Given the description of an element on the screen output the (x, y) to click on. 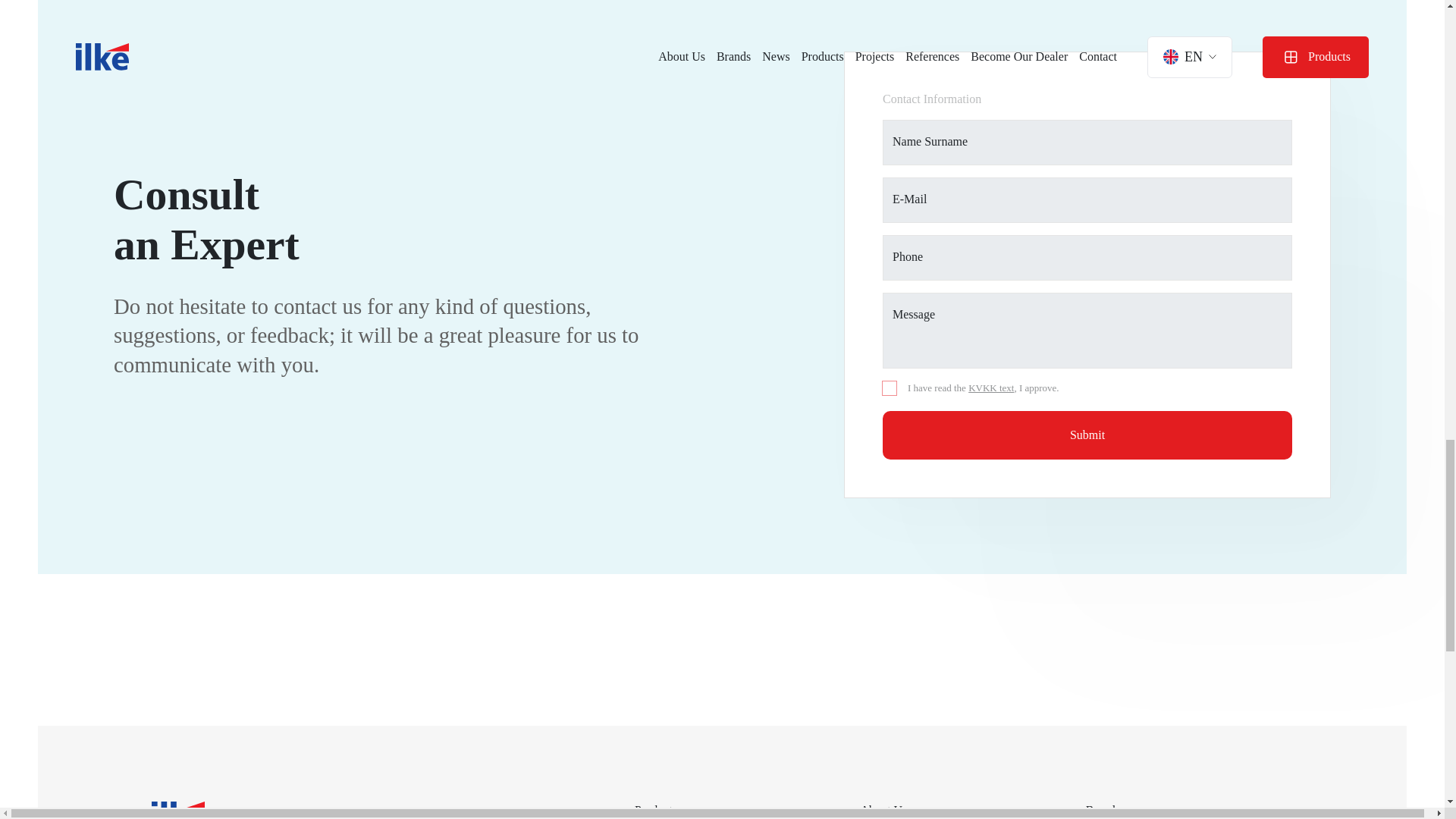
Evet (889, 387)
